Given the description of an element on the screen output the (x, y) to click on. 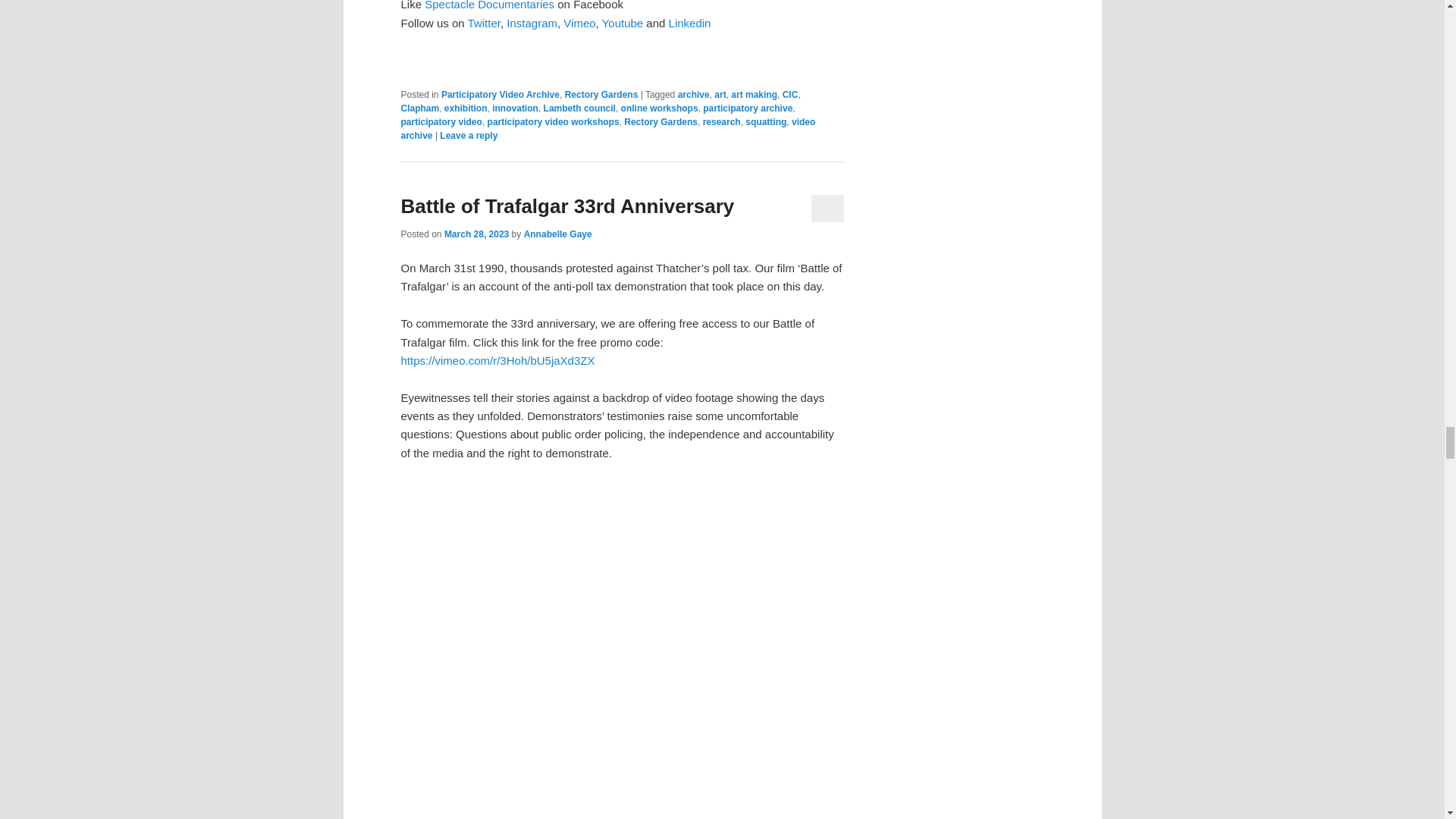
View all posts by Annabelle Gaye (558, 234)
1:22 pm (476, 234)
Battle of Trafalgar (621, 650)
